Given the description of an element on the screen output the (x, y) to click on. 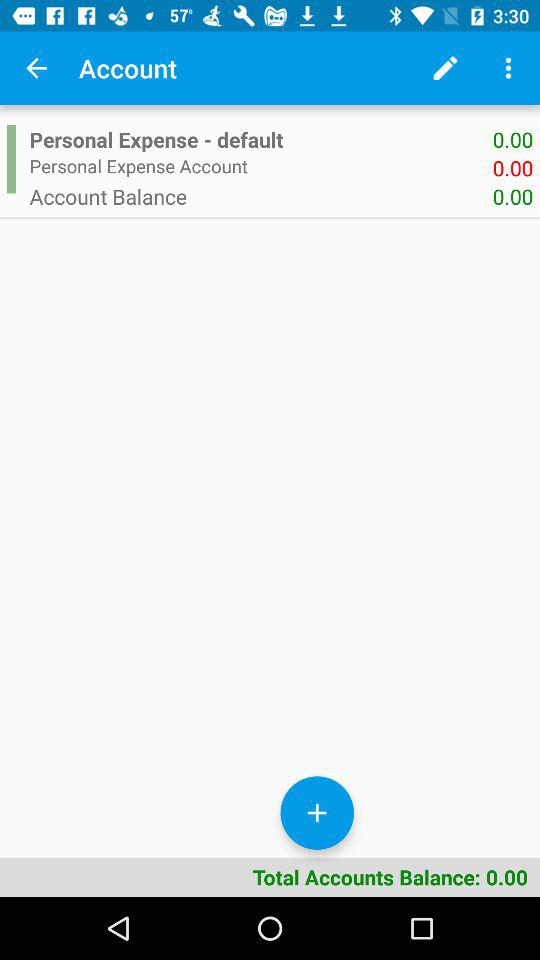
jump to the account balance  item (260, 196)
